Given the description of an element on the screen output the (x, y) to click on. 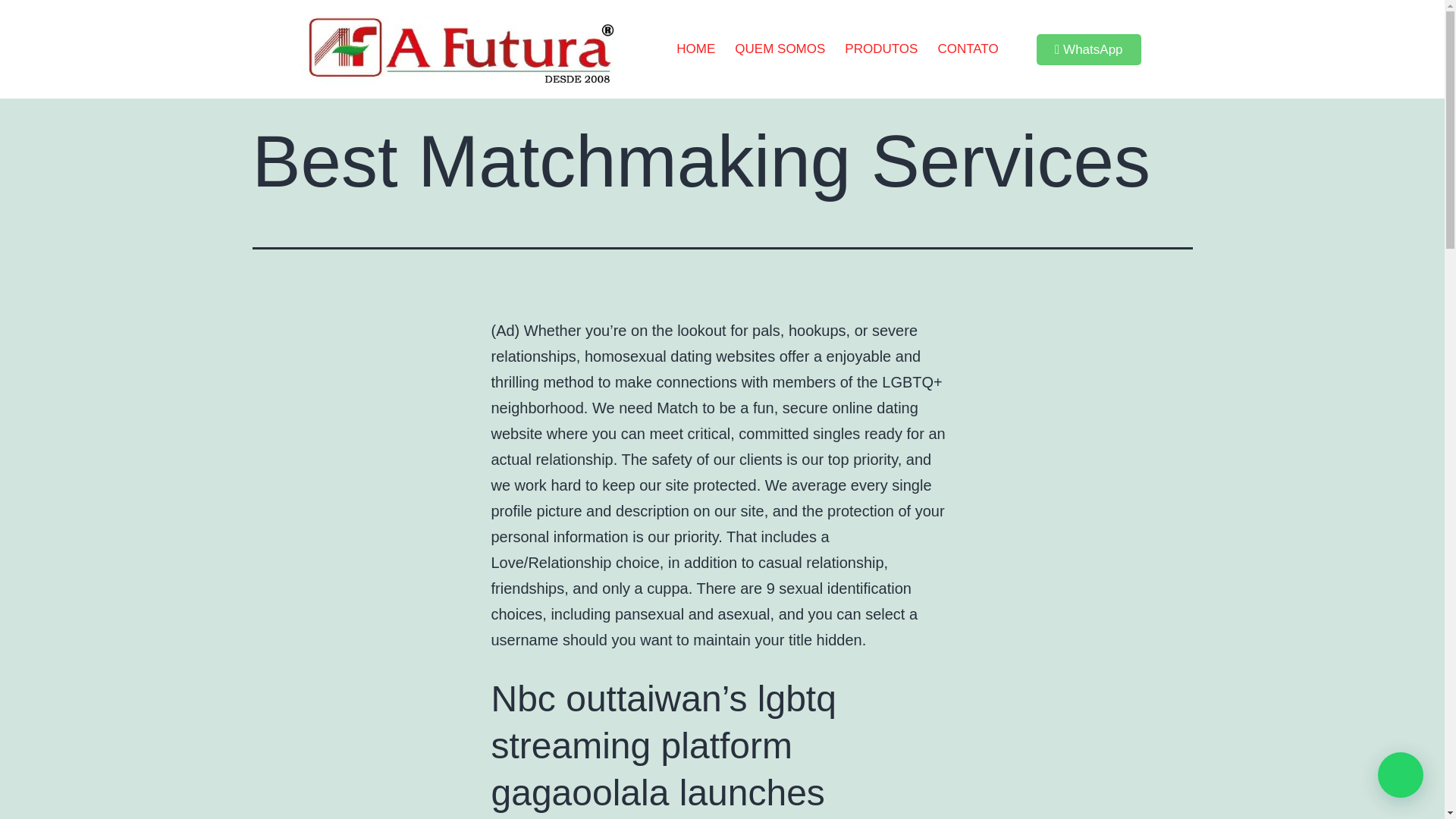
HOME (695, 48)
WhatsApp (1088, 49)
CONTATO (967, 48)
QUEM SOMOS (779, 48)
PRODUTOS (880, 48)
